Given the description of an element on the screen output the (x, y) to click on. 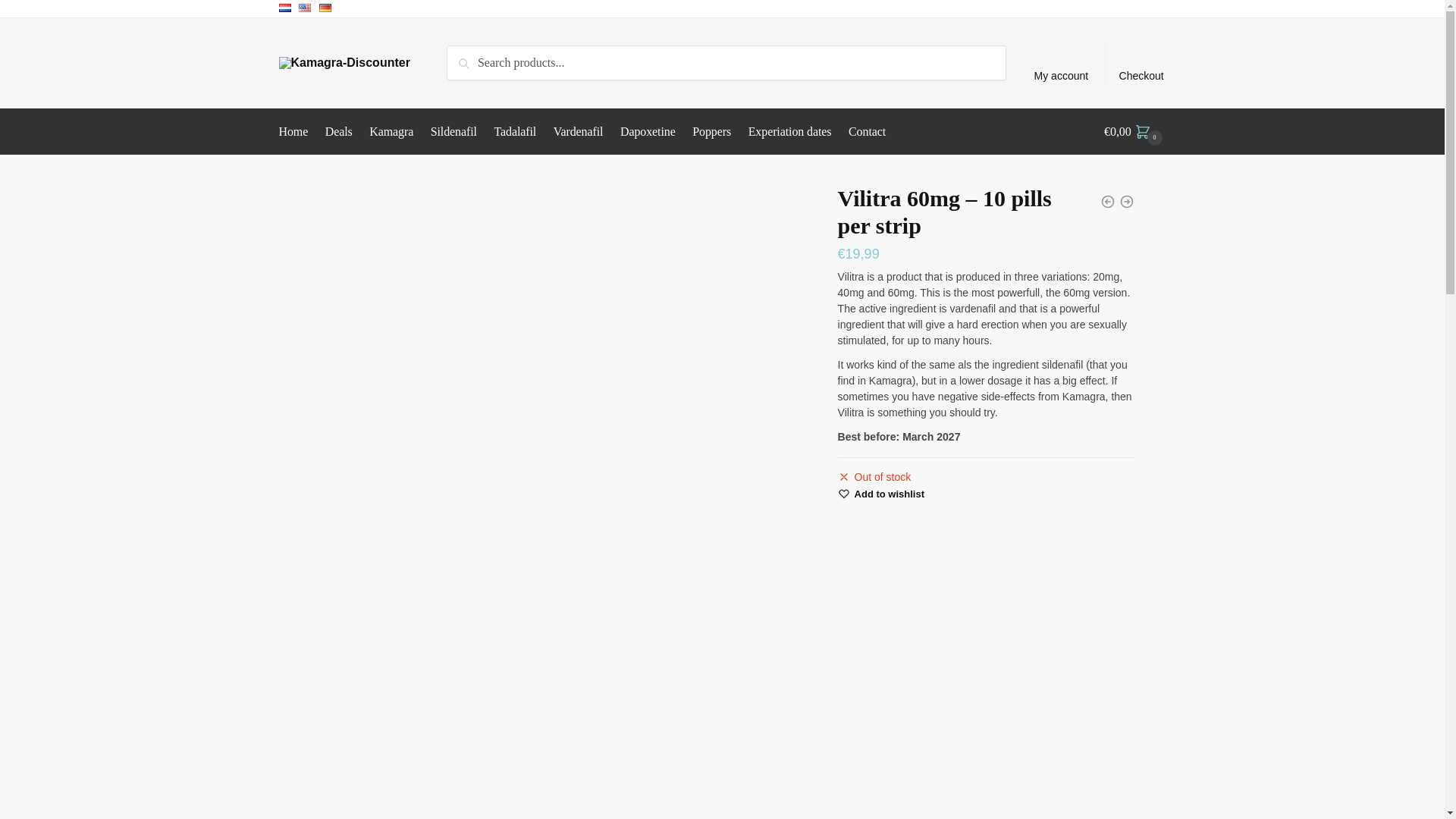
Tadalafil (515, 131)
Checkout (1141, 62)
Poppers (710, 131)
Add to wishlist (889, 494)
My account (1061, 62)
Deals (338, 131)
Contact (866, 131)
Dapoxetine (646, 131)
Wishlist (889, 494)
View your shopping cart (1134, 131)
